Given the description of an element on the screen output the (x, y) to click on. 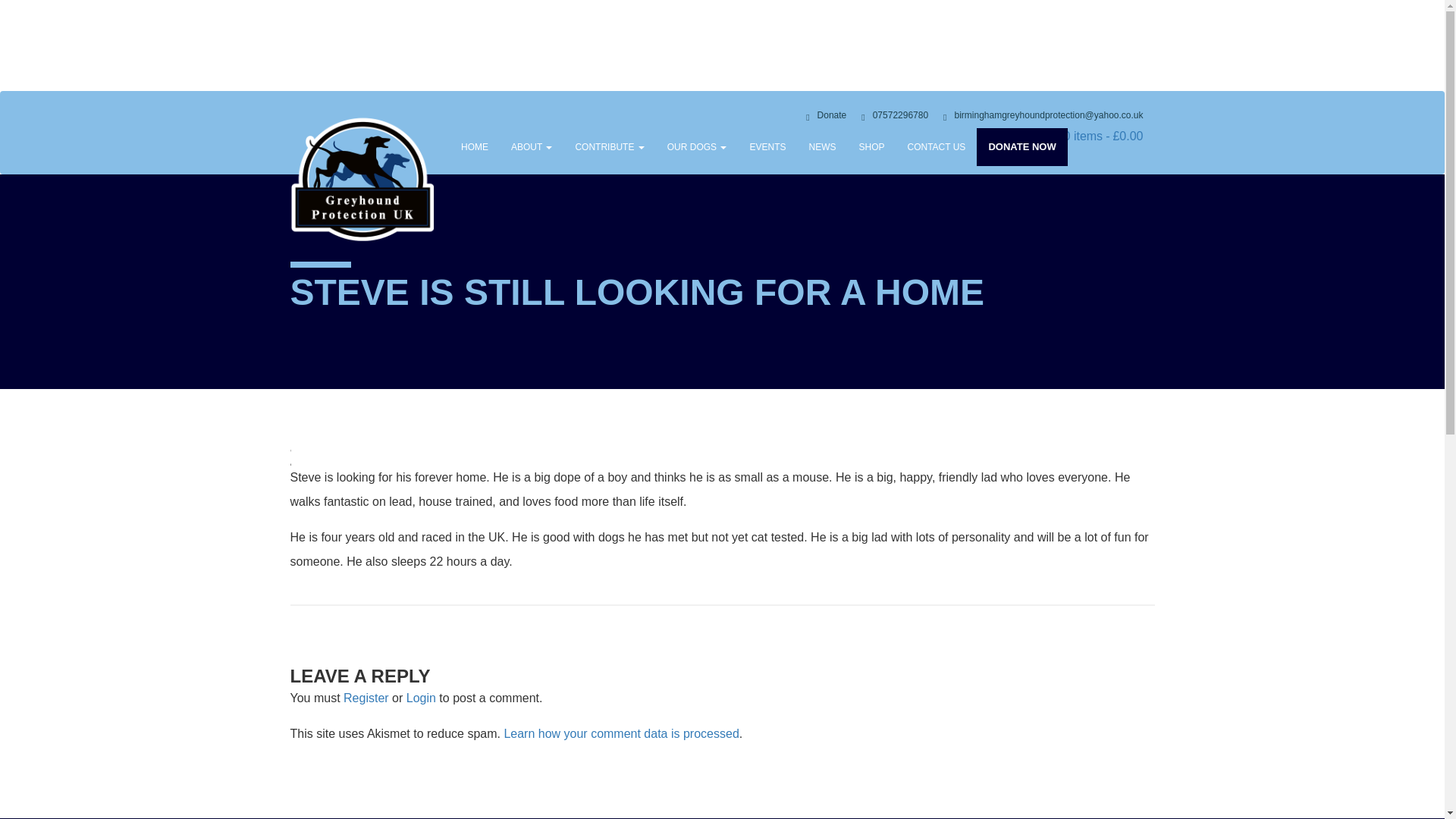
CONTRIBUTE (609, 146)
Donate (825, 115)
CONTACT US (935, 146)
Register (365, 697)
EVENTS (767, 146)
OUR DOGS (697, 146)
Login (420, 697)
07572296780 (894, 115)
NEWS (821, 146)
SHOP (871, 146)
